Given the description of an element on the screen output the (x, y) to click on. 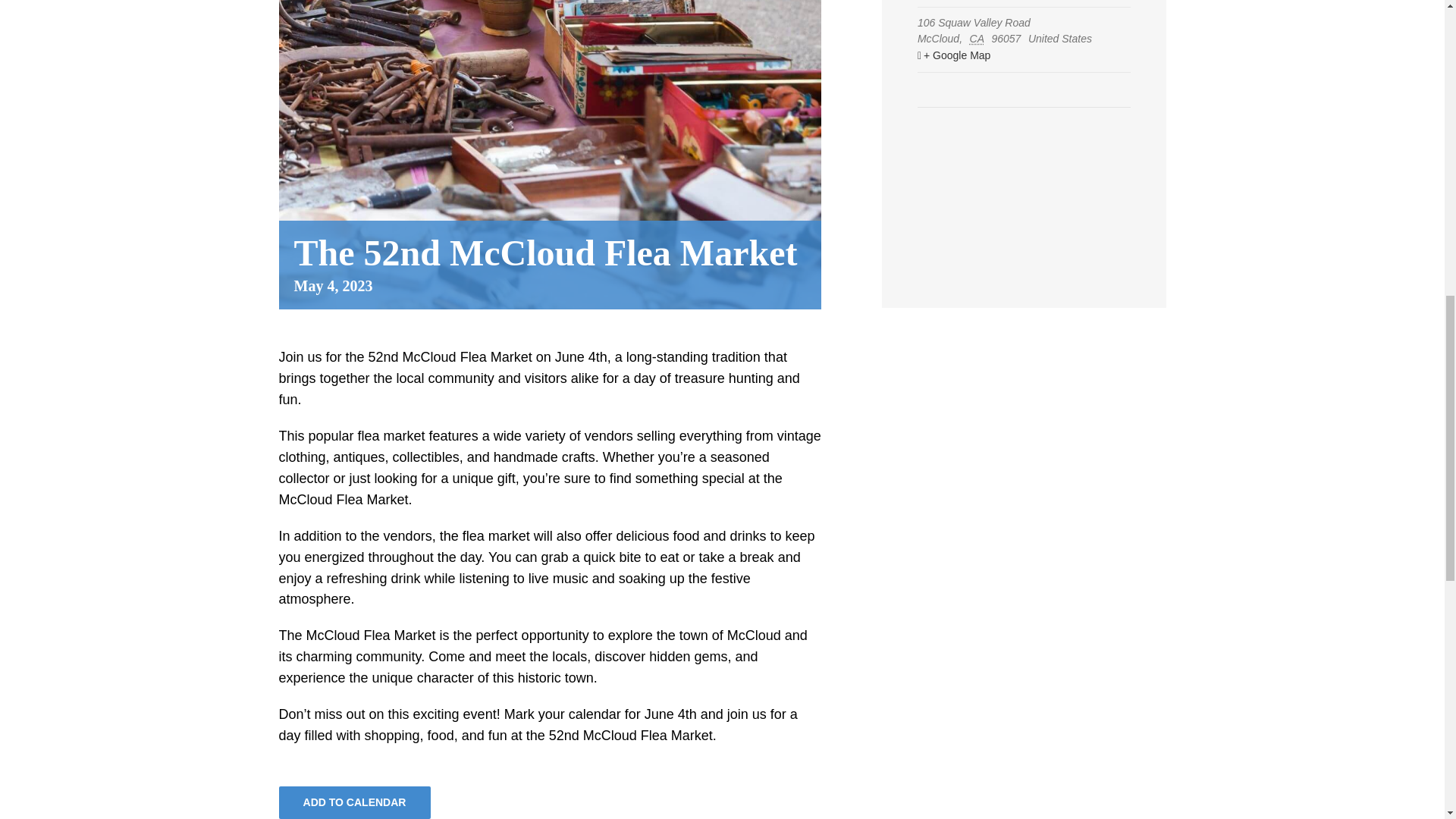
California (978, 38)
Click to view a Google Map (1022, 55)
ADD TO CALENDAR (354, 802)
Google maps iframe displaying the address to McCloud RV Park (1024, 153)
